Given the description of an element on the screen output the (x, y) to click on. 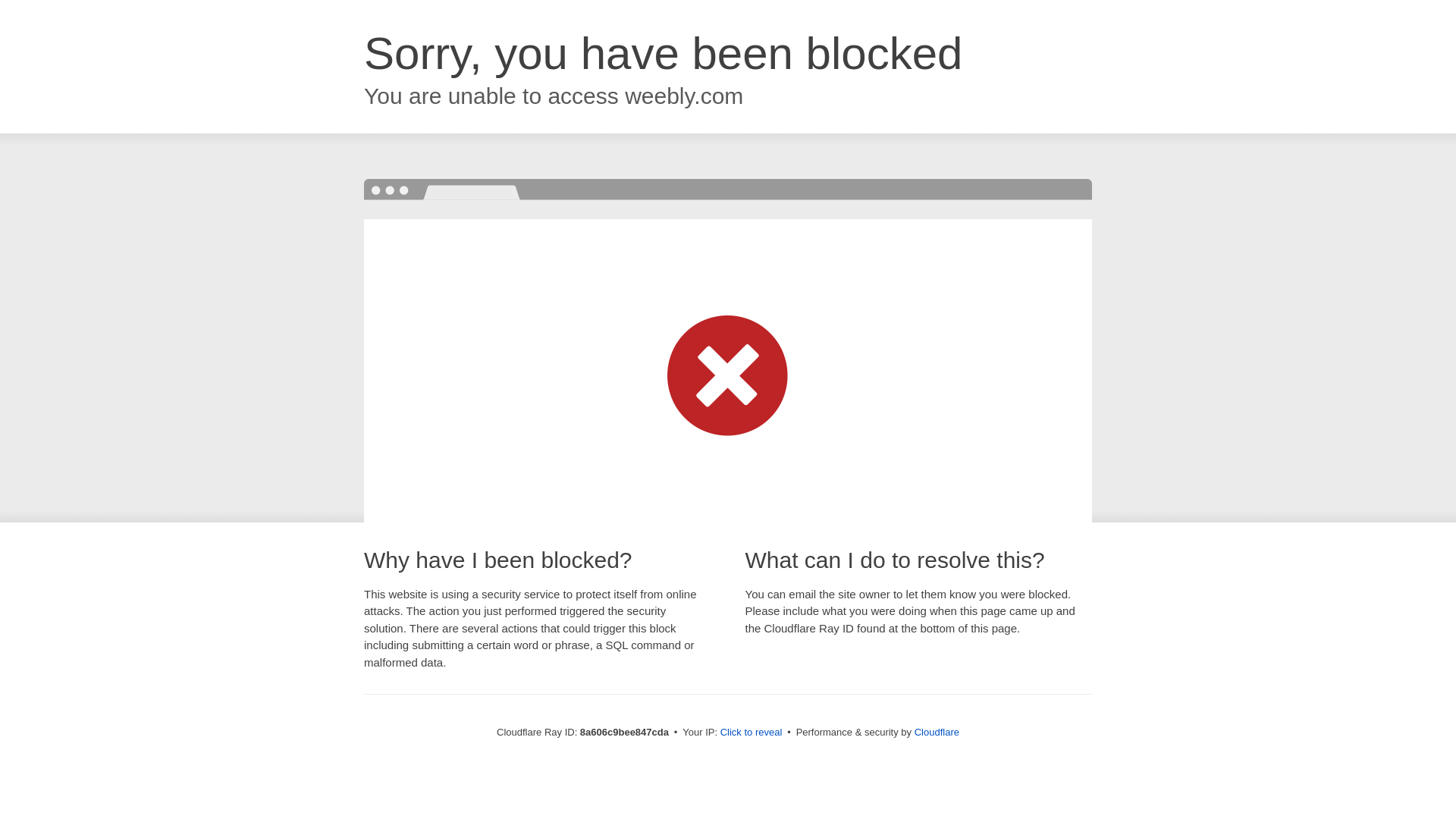
Cloudflare (936, 731)
Click to reveal (751, 732)
